Given the description of an element on the screen output the (x, y) to click on. 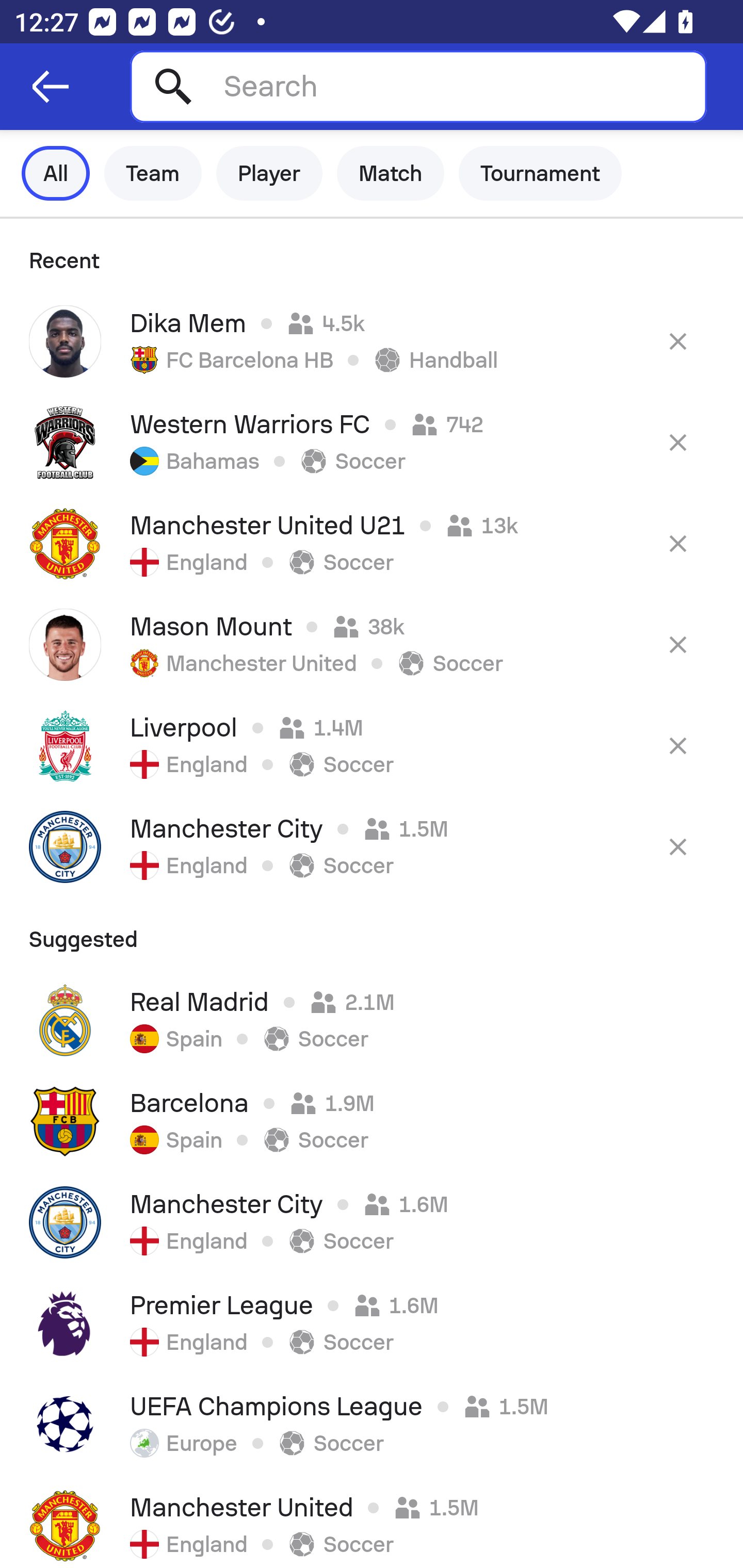
Navigate up (50, 86)
Search (418, 86)
All (55, 172)
Team (152, 172)
Player (268, 172)
Match (390, 172)
Tournament (540, 172)
Recent (371, 254)
Dika Mem 4.5k FC Barcelona HB Handball (371, 341)
Western Warriors FC 742 Bahamas Soccer (371, 442)
Manchester United U21 13k England Soccer (371, 543)
Mason Mount 38k Manchester United Soccer (371, 644)
Liverpool 1.4M England Soccer (371, 745)
Manchester City 1.5M England Soccer (371, 846)
Suggested (371, 932)
Real Madrid 2.1M Spain Soccer (371, 1019)
Barcelona 1.9M Spain Soccer (371, 1120)
Manchester City 1.6M England Soccer (371, 1222)
Premier League 1.6M England Soccer (371, 1323)
UEFA Champions League 1.5M Europe Soccer (371, 1424)
Manchester United 1.5M England Soccer (371, 1521)
